Given the description of an element on the screen output the (x, y) to click on. 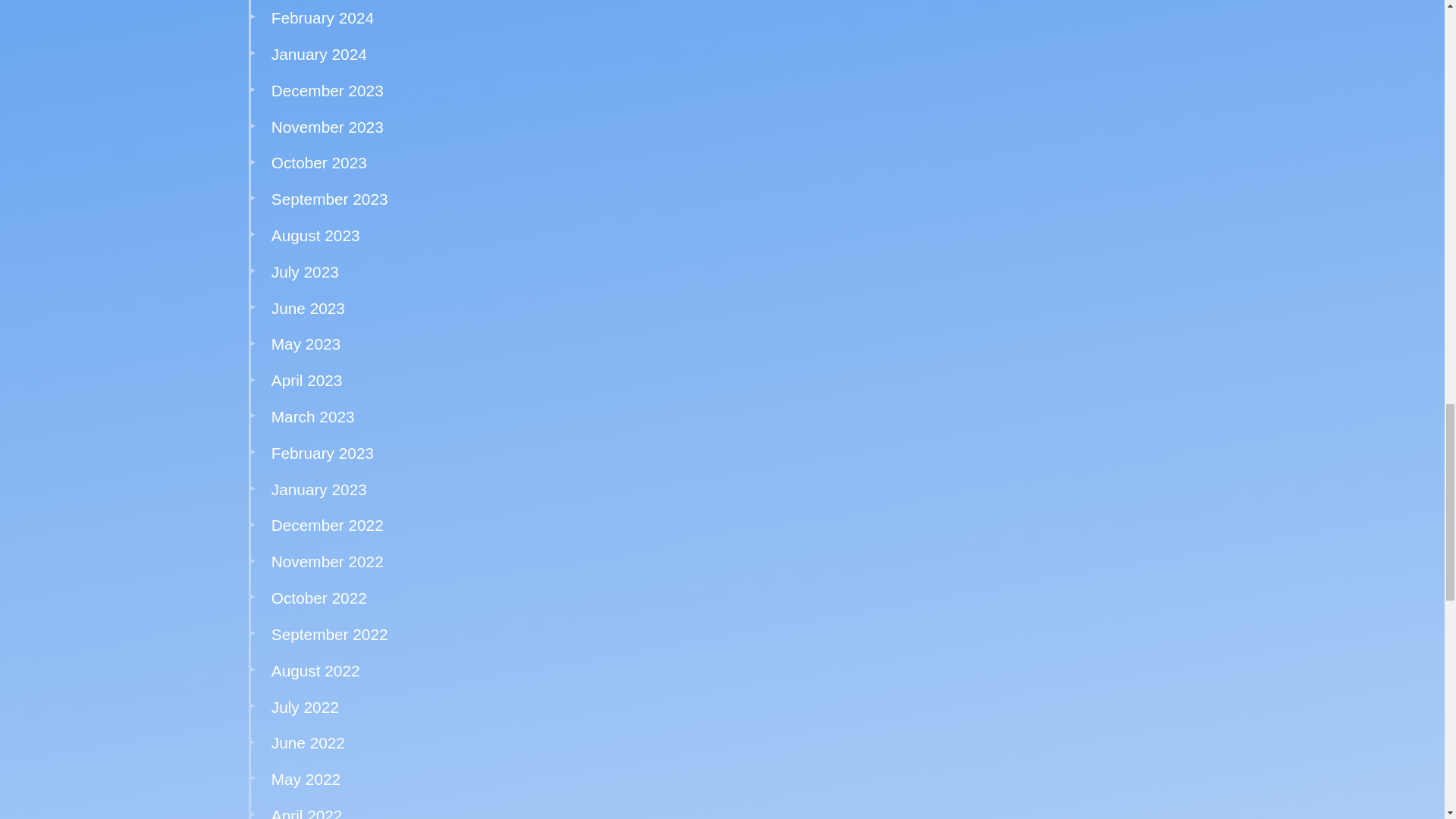
October 2022 (318, 597)
November 2023 (327, 126)
April 2023 (306, 380)
January 2024 (318, 54)
August 2023 (314, 235)
October 2023 (318, 162)
February 2024 (322, 17)
December 2022 (327, 524)
March 2023 (312, 416)
July 2022 (304, 706)
